Given the description of an element on the screen output the (x, y) to click on. 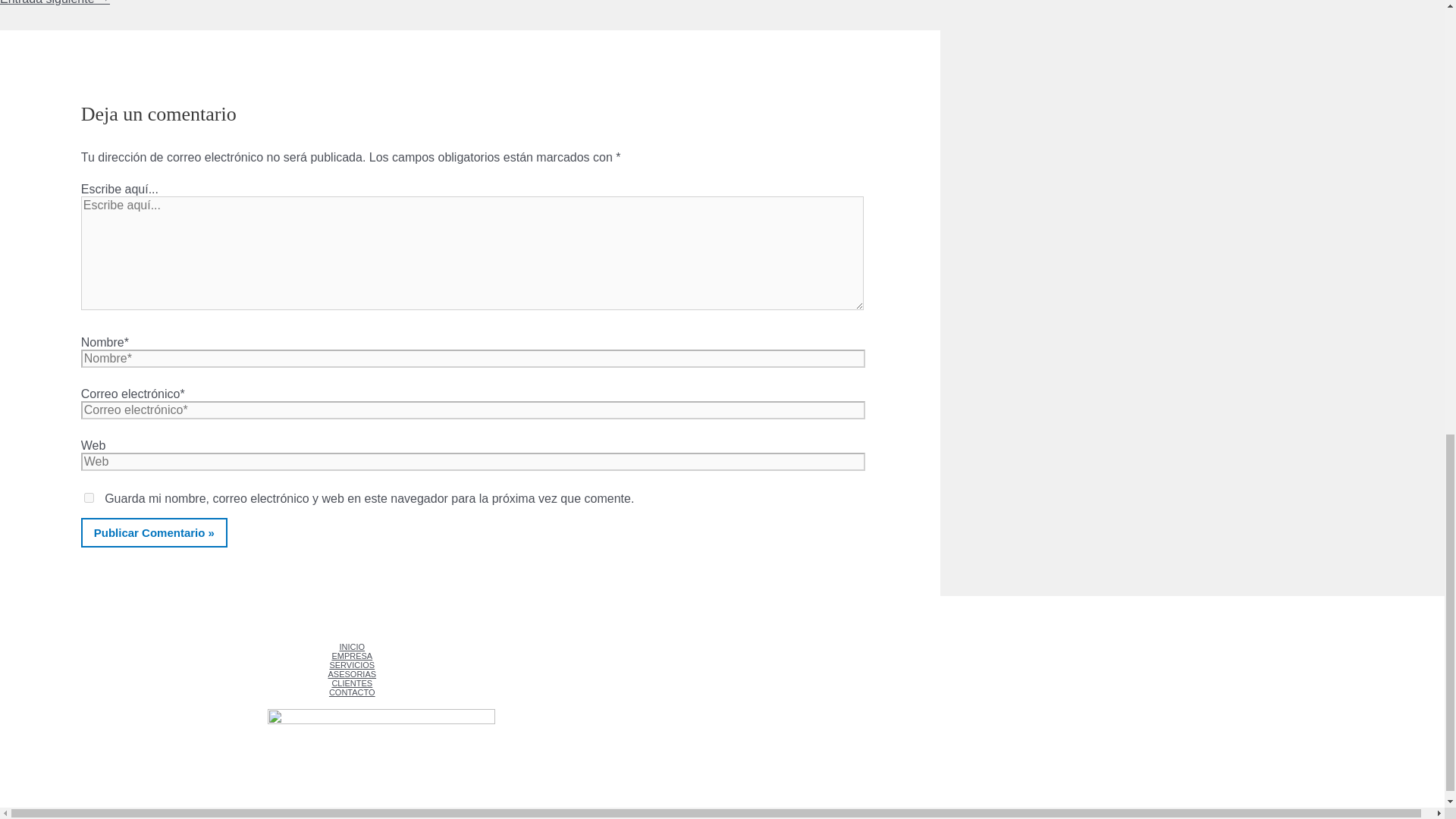
CONTACTO (358, 691)
yes (89, 497)
ASESORIAS (357, 673)
CLIENTES (357, 682)
EMPRESA (357, 655)
SERVICIOS (358, 664)
INICIO (358, 646)
